Given the description of an element on the screen output the (x, y) to click on. 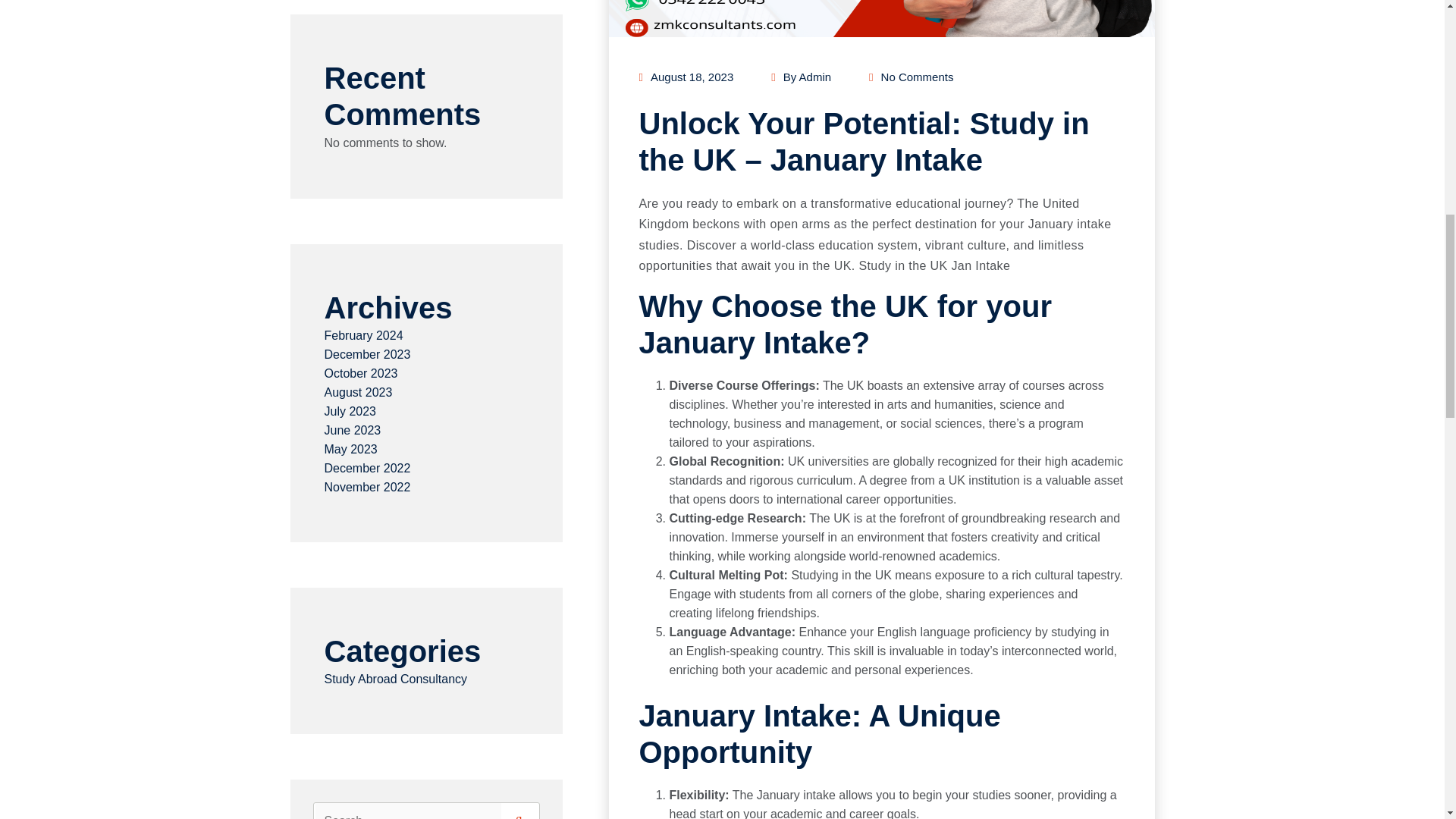
August 18, 2023 (686, 76)
No Comments (911, 76)
By Admin (801, 76)
